Given the description of an element on the screen output the (x, y) to click on. 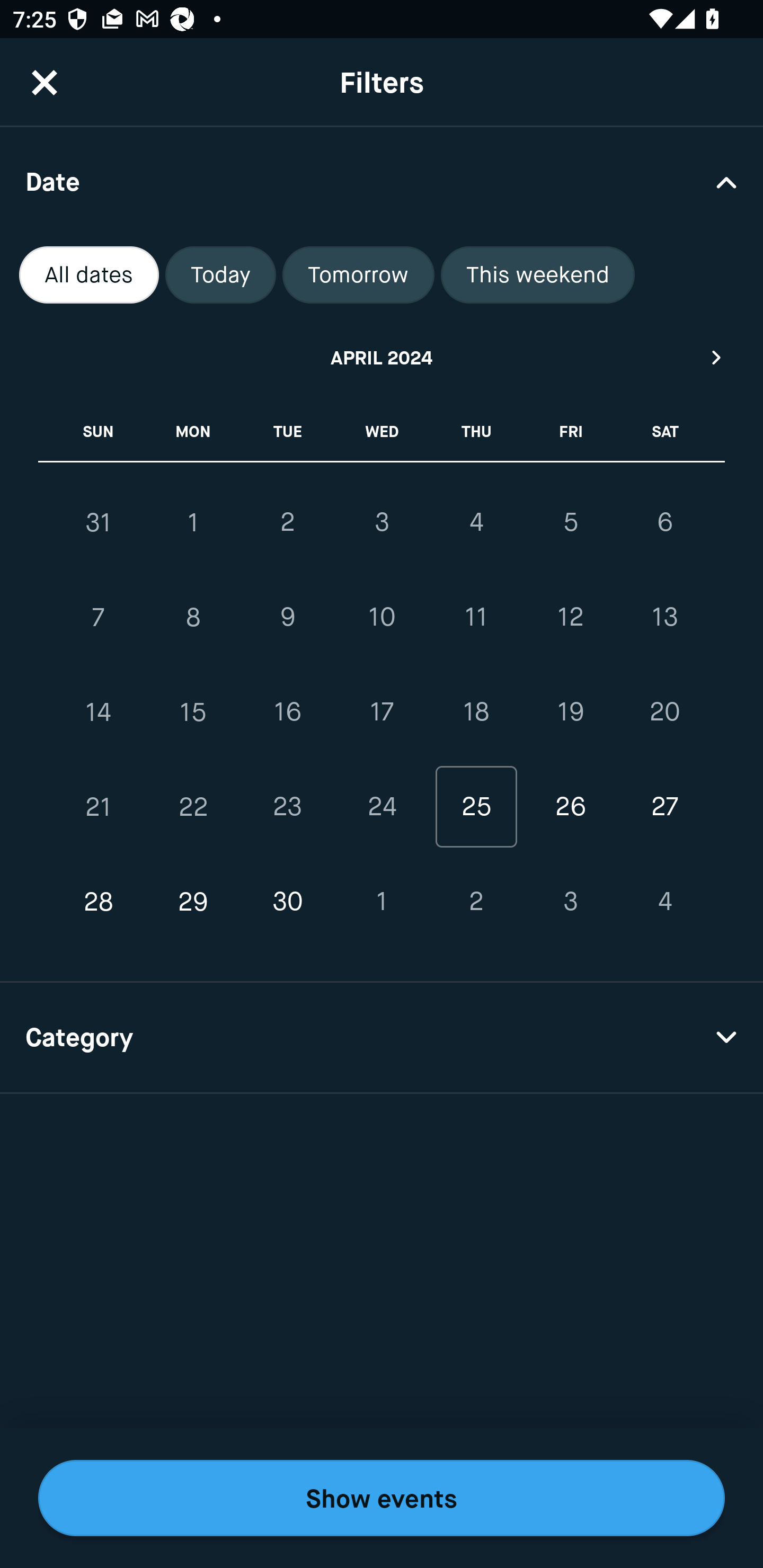
CloseButton (44, 82)
Date Drop Down Arrow (381, 181)
All dates (88, 274)
Today (220, 274)
Tomorrow (358, 274)
This weekend (537, 274)
Next (717, 357)
31 (98, 522)
1 (192, 522)
2 (287, 522)
3 (381, 522)
4 (475, 522)
5 (570, 522)
6 (664, 522)
7 (98, 617)
8 (192, 617)
9 (287, 617)
10 (381, 617)
11 (475, 617)
12 (570, 617)
13 (664, 617)
14 (98, 711)
15 (192, 711)
16 (287, 711)
17 (381, 711)
18 (475, 711)
19 (570, 711)
20 (664, 711)
21 (98, 806)
22 (192, 806)
23 (287, 806)
24 (381, 806)
25 (475, 806)
26 (570, 806)
27 (664, 806)
28 (98, 901)
29 (192, 901)
30 (287, 901)
1 (381, 901)
2 (475, 901)
3 (570, 901)
4 (664, 901)
Category Drop Down Arrow (381, 1038)
Show events (381, 1497)
